Given the description of an element on the screen output the (x, y) to click on. 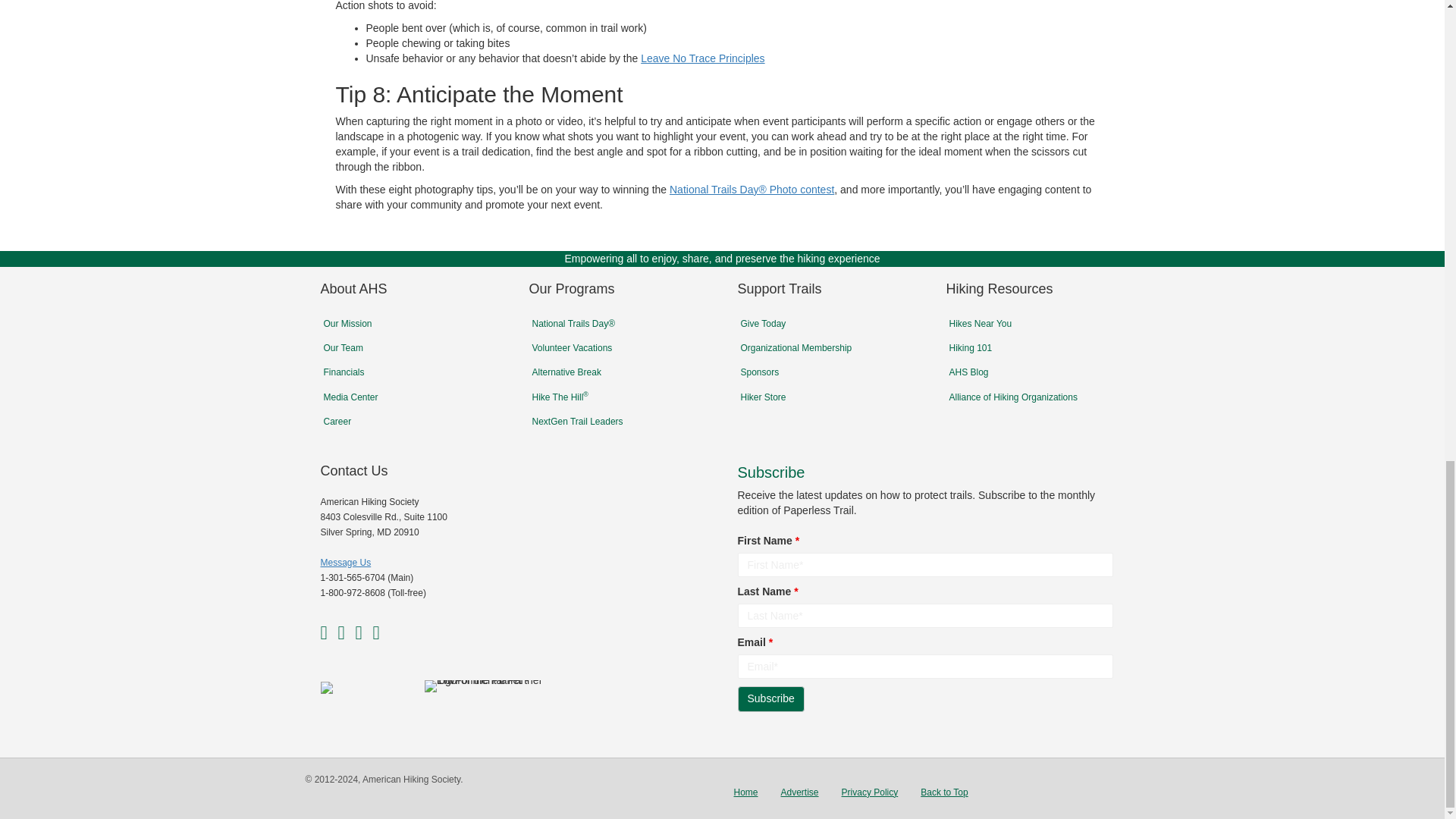
Subscribe (769, 698)
